Given the description of an element on the screen output the (x, y) to click on. 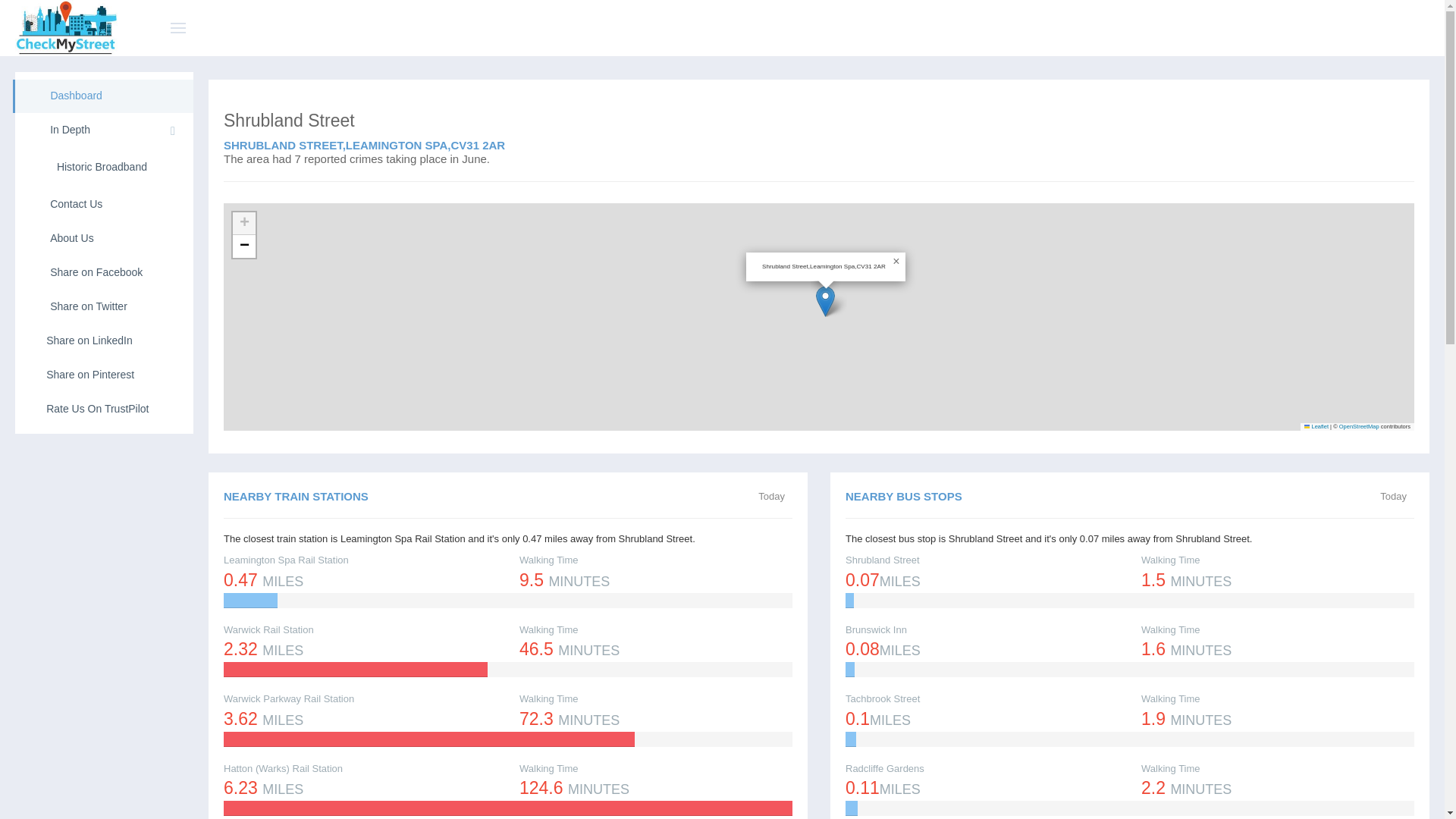
on (1385, 497)
In Depth (103, 130)
on (763, 497)
Contact Us (103, 204)
Leaflet (1315, 426)
Share on Pinterest (103, 375)
Zoom in (244, 223)
Share on LinkedIn (103, 340)
Rate Us On TrustPilot (103, 409)
Historic Broadband (103, 167)
